Given the description of an element on the screen output the (x, y) to click on. 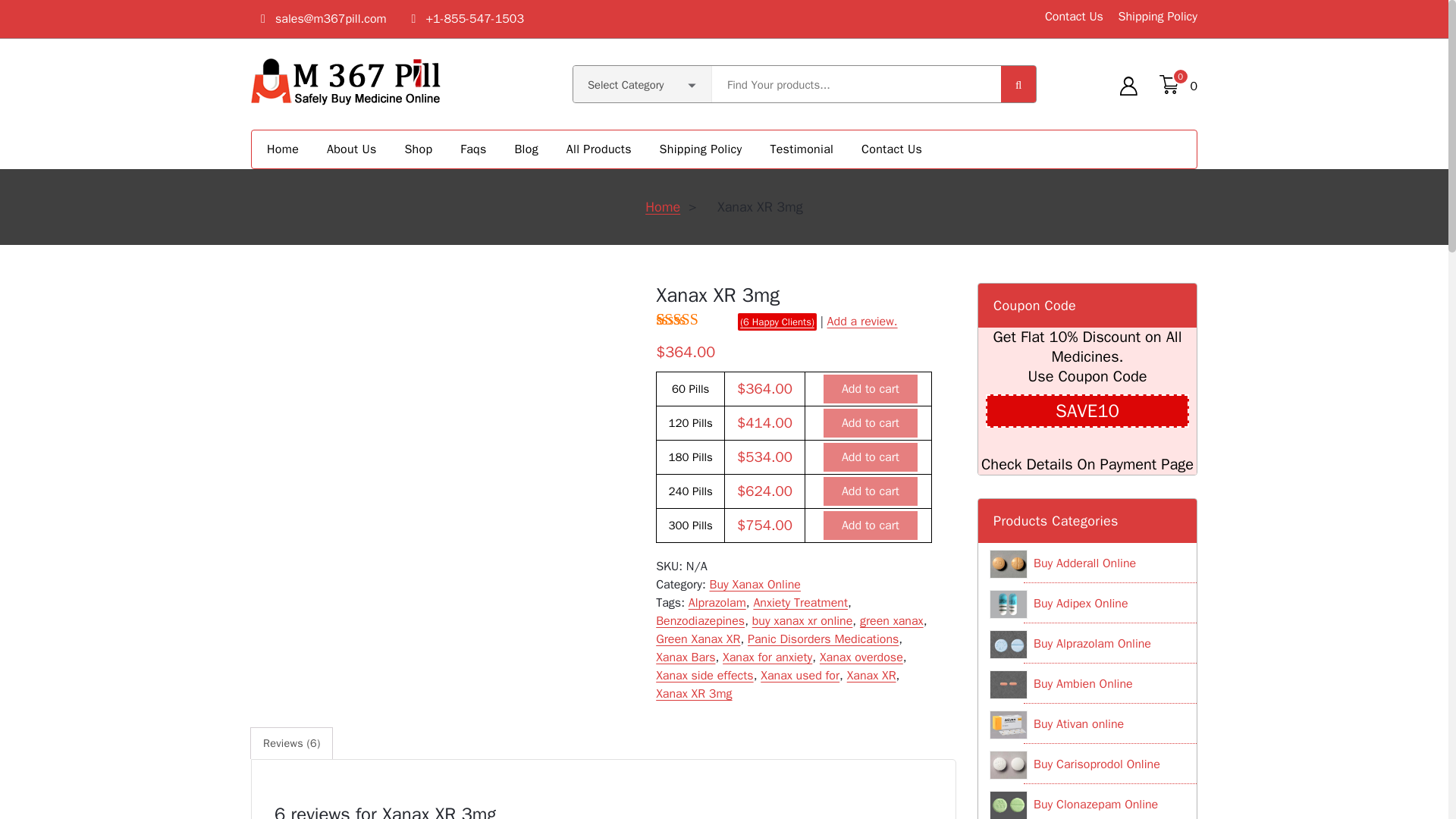
Alprazolam (716, 602)
Add to cart (870, 422)
All Products (599, 149)
Blog (525, 149)
Shop (418, 149)
Testimonial (801, 149)
Contact Us (891, 149)
Shipping Policy (1155, 17)
Home (282, 149)
Home (662, 207)
